Given the description of an element on the screen output the (x, y) to click on. 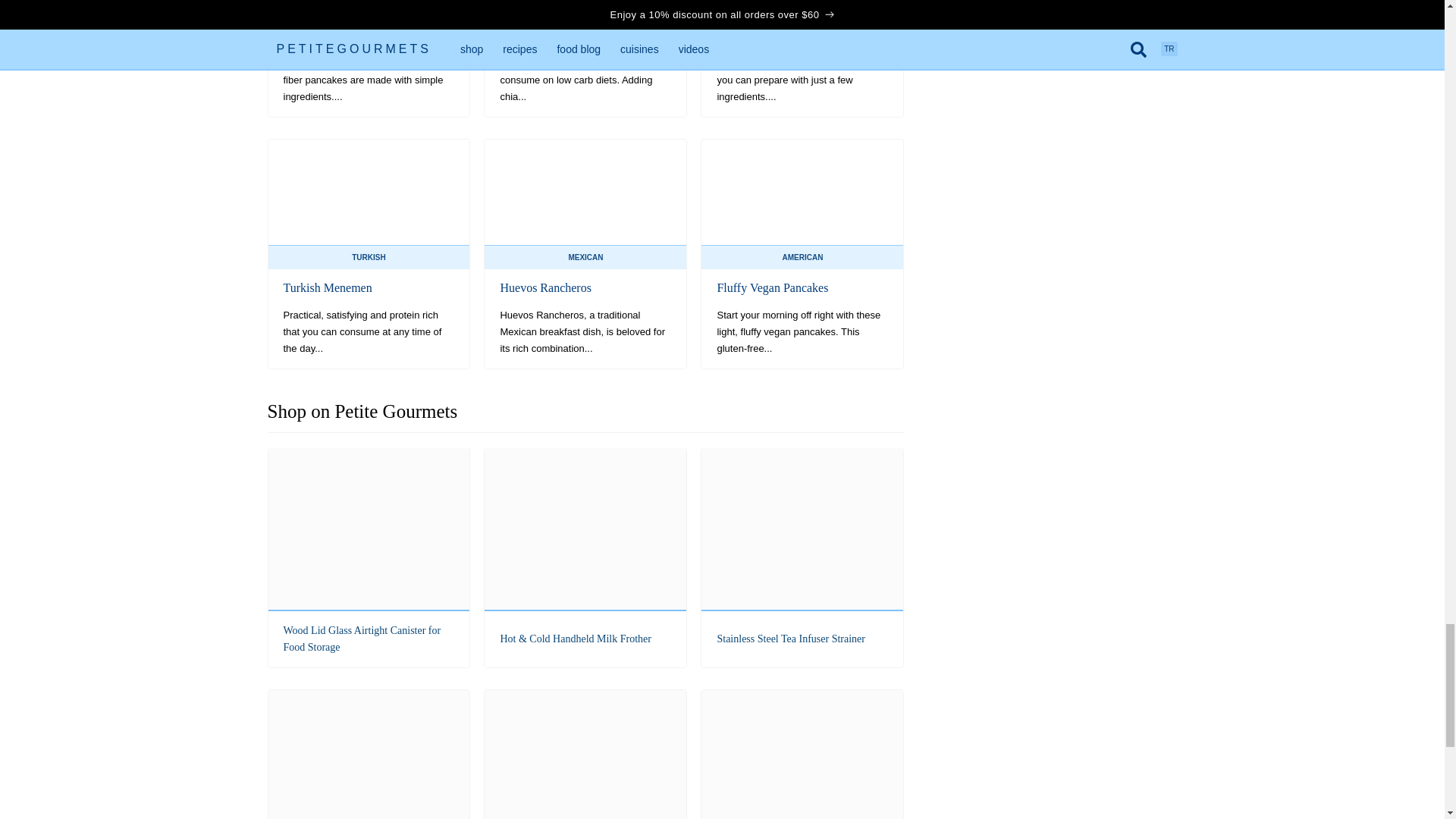
Elephant-Shaped Multi-Purpose Kitchen Drain Basket (584, 754)
Premium Cotton Waffle Weave Dishcloths (368, 754)
Boho Round Placemat with Jute Fringe (801, 754)
Wood Lid Glass Airtight Canister for Food Storage (368, 557)
Stainless Steel Tea Infuser Strainer (801, 557)
